Given the description of an element on the screen output the (x, y) to click on. 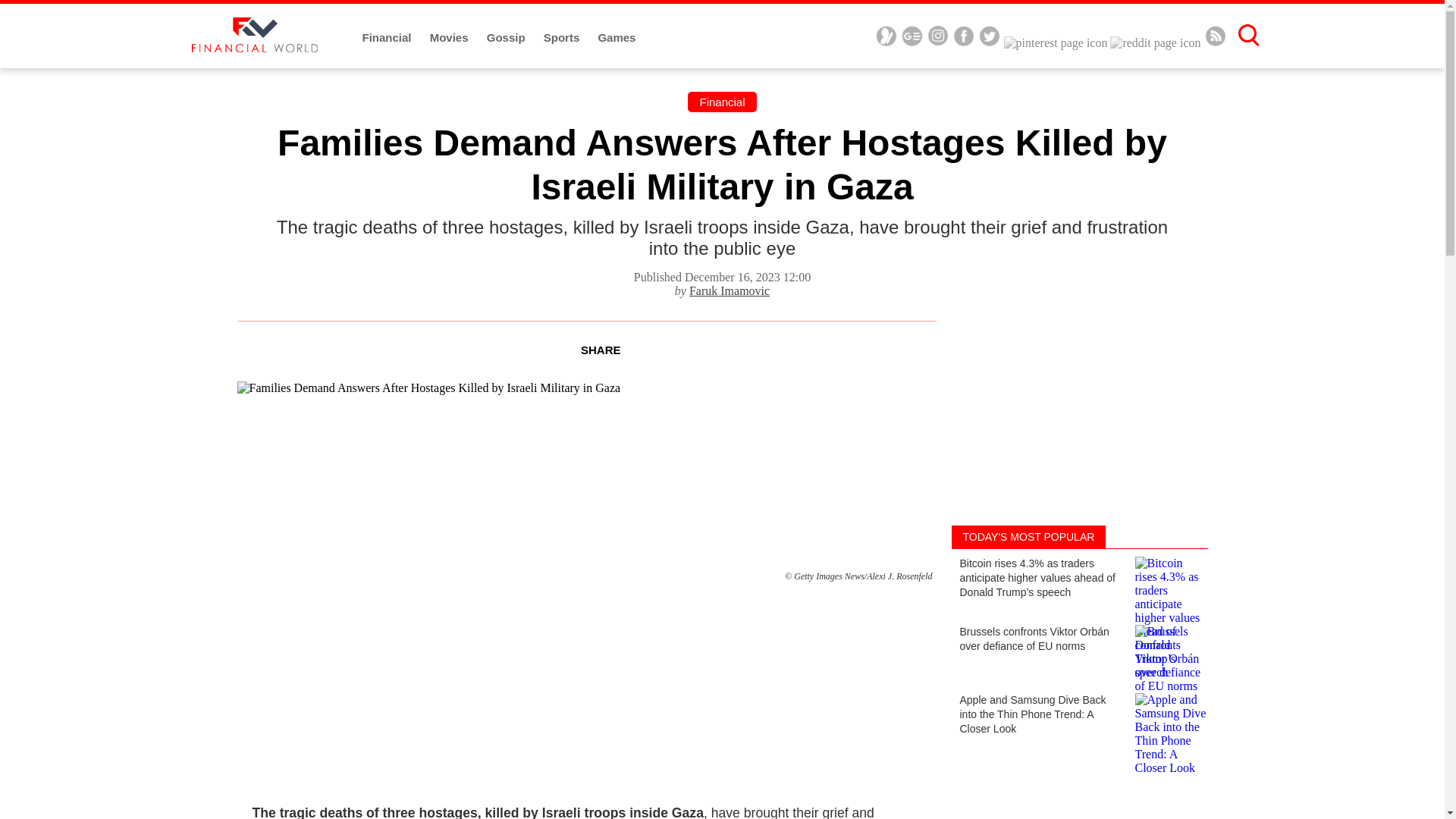
Financial (388, 37)
Faruk Imamovic (729, 290)
Games (615, 37)
Movies (450, 37)
Sports (563, 37)
Financial (721, 101)
Gossip (507, 37)
